Given the description of an element on the screen output the (x, y) to click on. 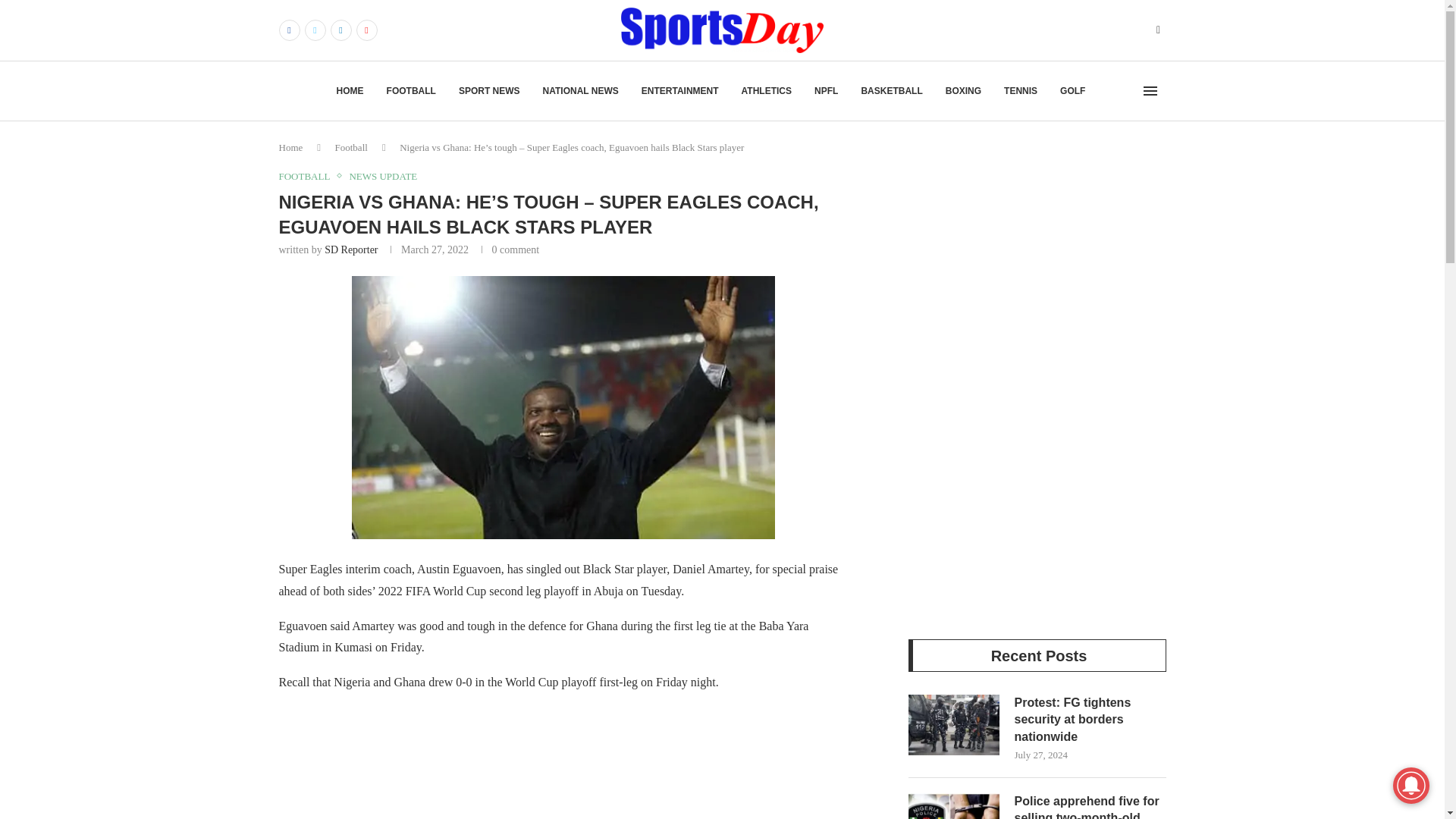
BASKETBALL (890, 90)
NATIONAL NEWS (580, 90)
Advertisement (612, 762)
SPORT NEWS (488, 90)
ENTERTAINMENT (680, 90)
eguavon 1 (563, 407)
ATHLETICS (766, 90)
FOOTBALL (411, 90)
